Given the description of an element on the screen output the (x, y) to click on. 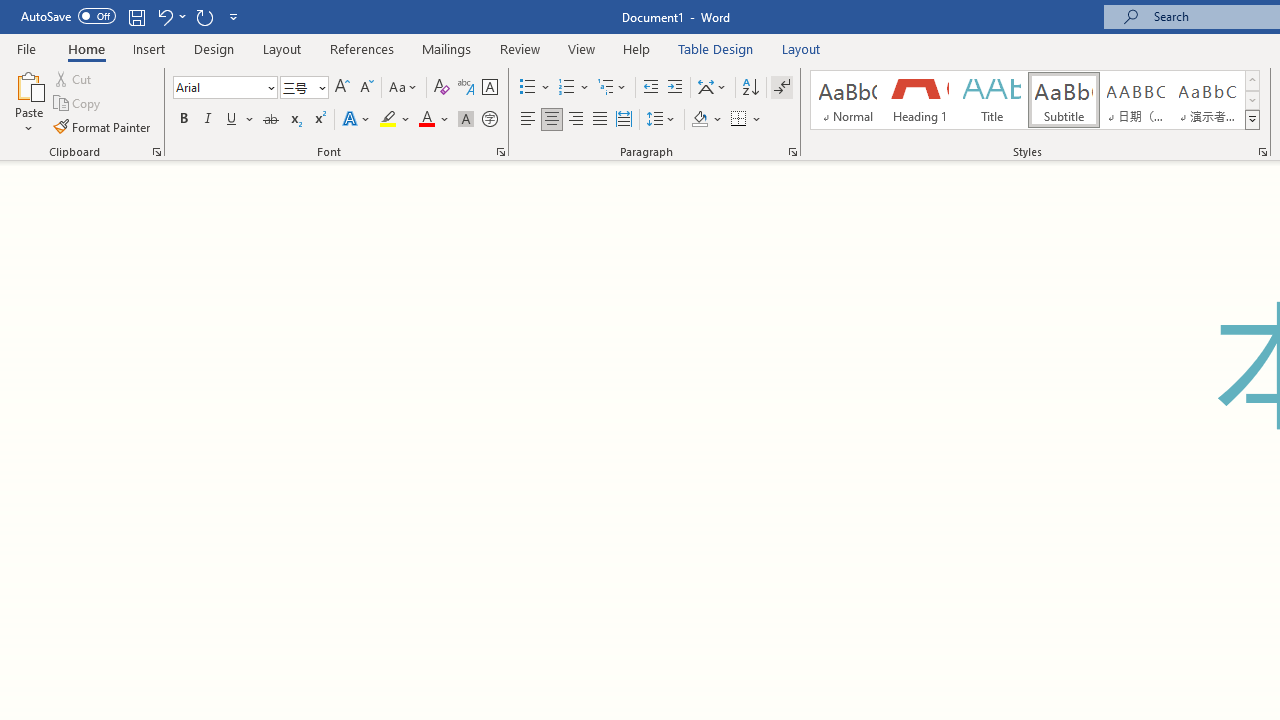
Heading 1 (920, 100)
